Given the description of an element on the screen output the (x, y) to click on. 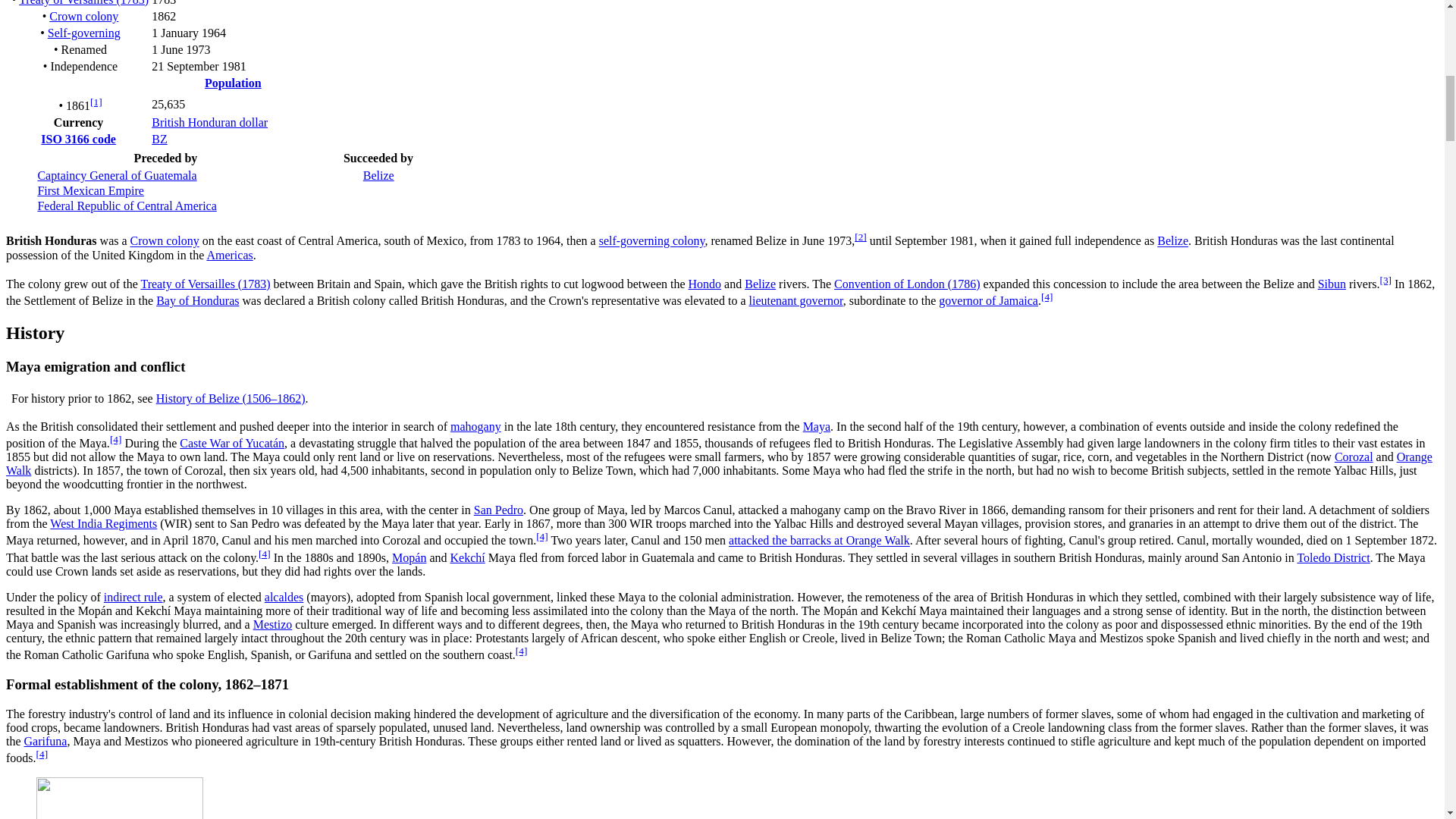
British Honduran dollar (209, 122)
Federal Republic of Central America (126, 205)
First Mexican Empire (89, 190)
Captaincy General of Guatemala (116, 174)
ISO 3166 code (78, 138)
BZ (159, 138)
Self-governing (84, 32)
Belize (378, 174)
Population (233, 82)
Crown colony (83, 15)
